Given the description of an element on the screen output the (x, y) to click on. 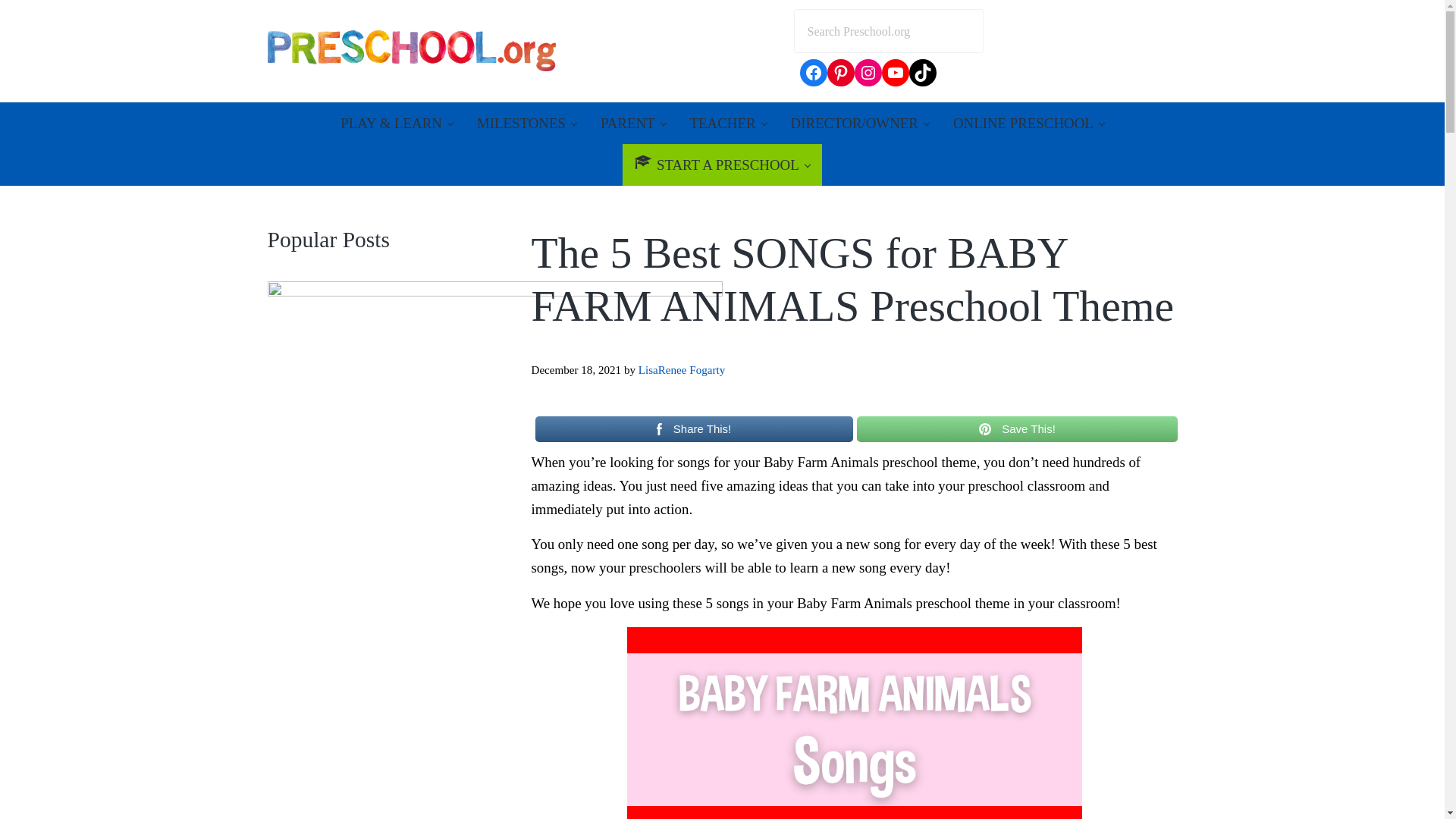
Pinterest (840, 72)
TEACHER (728, 123)
TikTok (922, 72)
Facebook (813, 72)
PARENT (633, 123)
YouTube (895, 72)
MILESTONES (526, 123)
Instagram (868, 72)
